Given the description of an element on the screen output the (x, y) to click on. 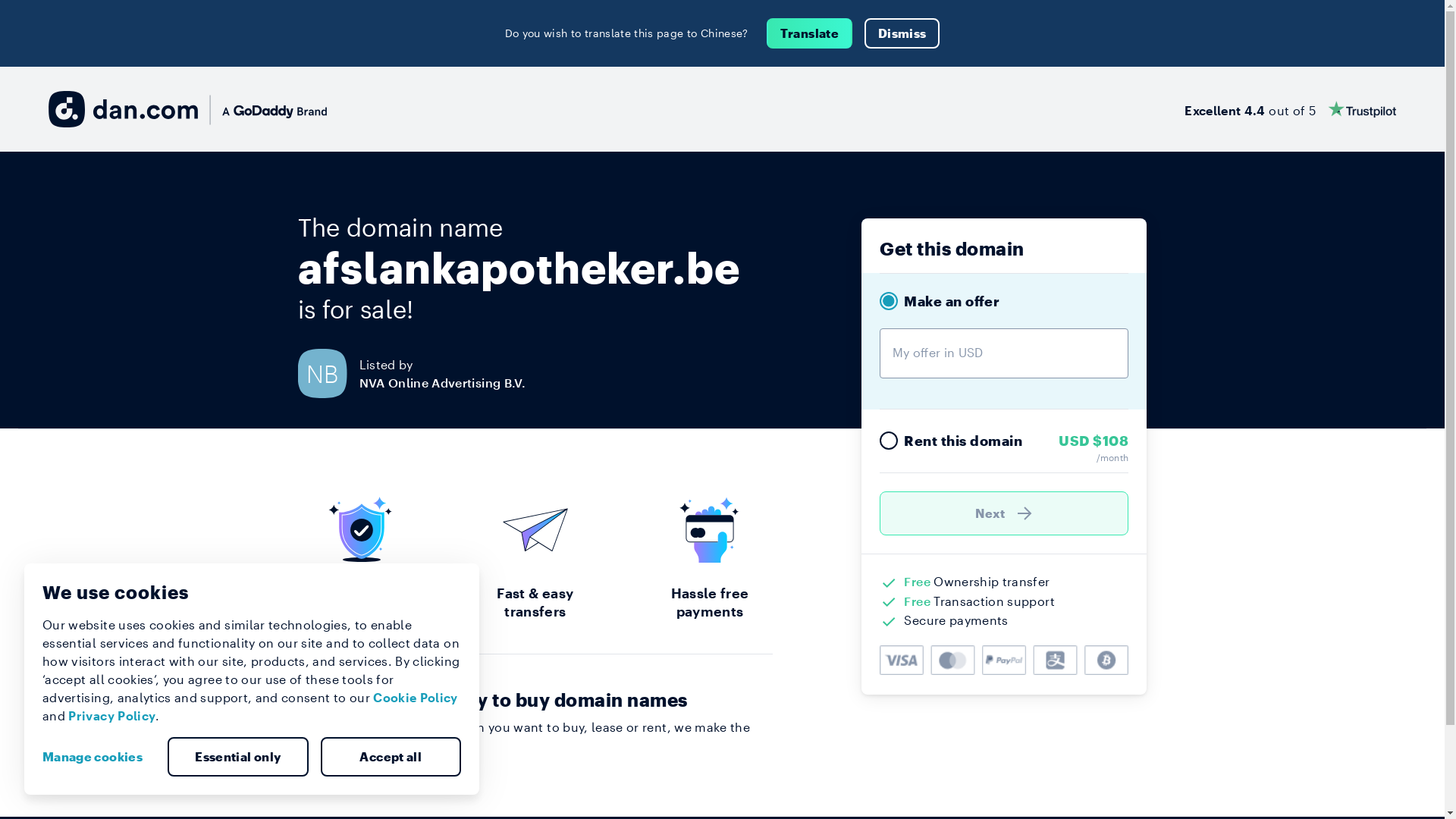
Excellent 4.4 out of 5 Element type: text (1290, 109)
Essential only Element type: text (237, 756)
Next
) Element type: text (1003, 513)
Privacy Policy Element type: text (111, 715)
Cookie Policy Element type: text (415, 697)
Accept all Element type: text (390, 756)
Dismiss Element type: text (901, 33)
Translate Element type: text (809, 33)
Manage cookies Element type: text (98, 756)
